Given the description of an element on the screen output the (x, y) to click on. 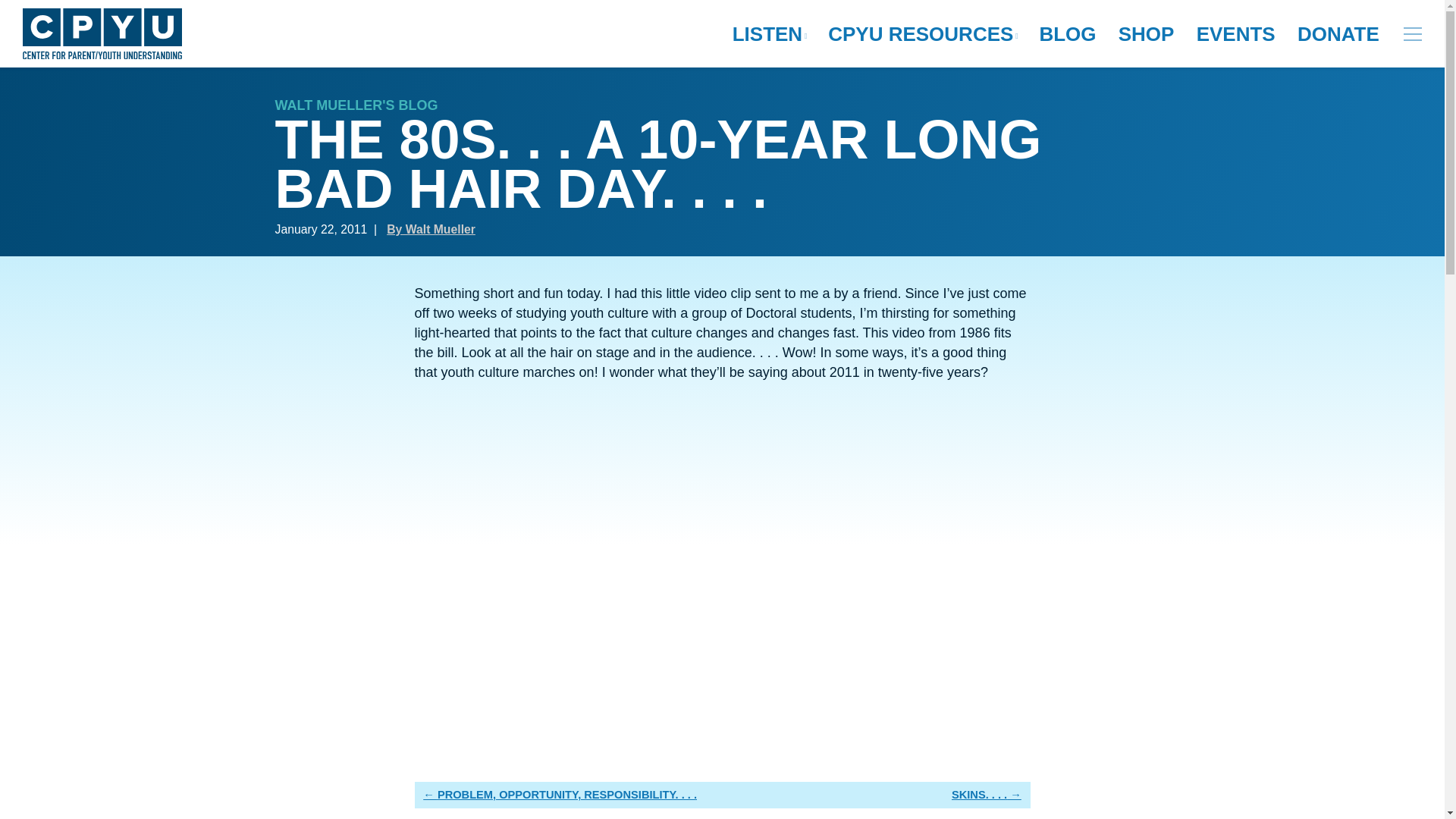
PROBLEM, OPPORTUNITY, RESPONSIBILITY. . . . (560, 794)
DONATE (1338, 34)
By Walt Mueller (431, 228)
EVENTS (1236, 34)
BLOG (1067, 34)
LISTEN (769, 34)
CPYU RESOURCES (922, 34)
WALT MUELLER'S BLOG (356, 105)
SHOP (1146, 34)
By Walt Mueller (431, 228)
